Given the description of an element on the screen output the (x, y) to click on. 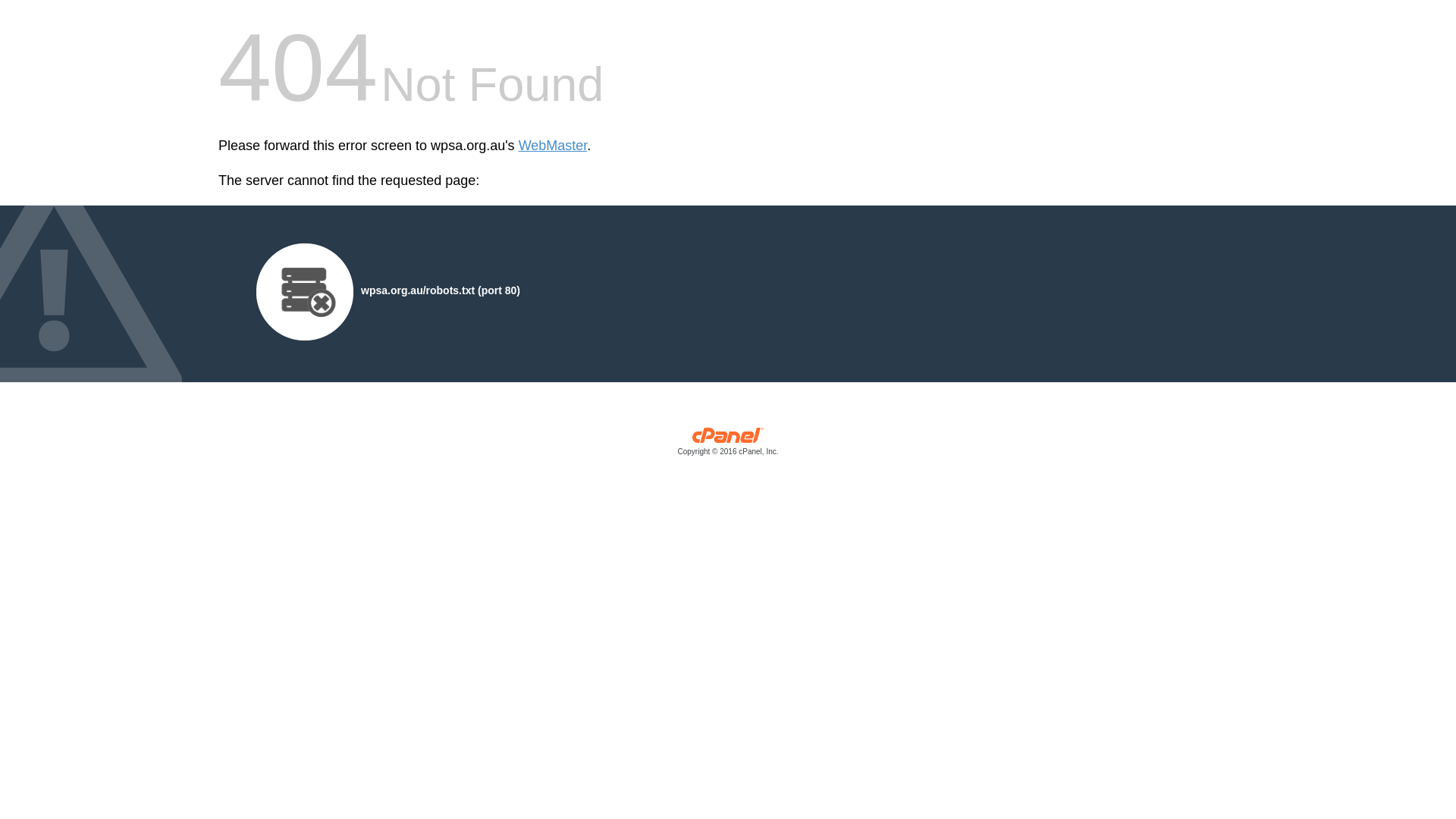
WebMaster Element type: text (552, 145)
